Given the description of an element on the screen output the (x, y) to click on. 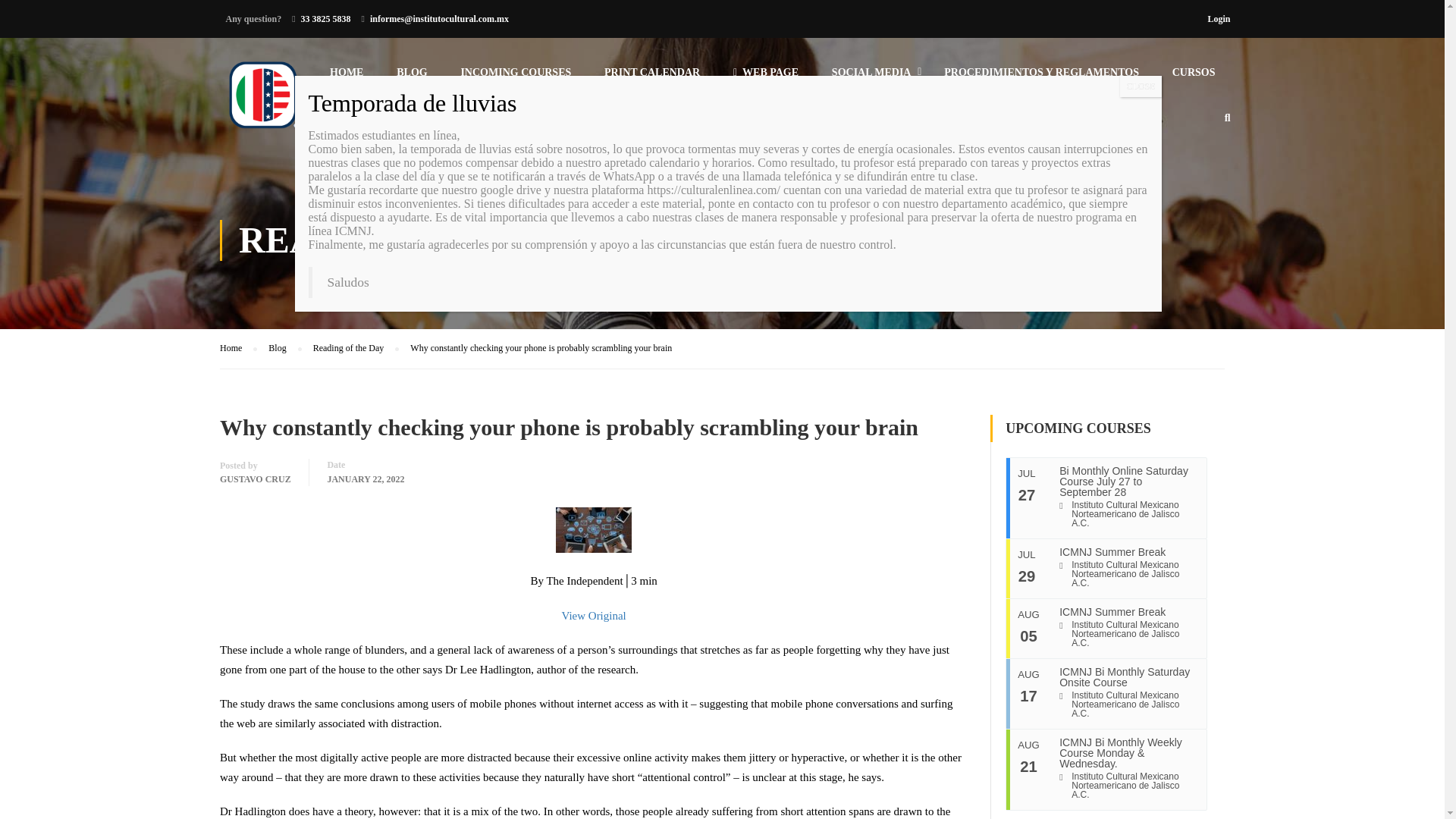
PROCEDIMIENTOS Y REGLAMENTOS (1041, 79)
GUSTAVO CRUZ (255, 478)
Reading of the Day (355, 348)
Home (238, 348)
Blog (284, 348)
SOCIAL MEDIA (871, 79)
33 3825 5838 (325, 18)
View Original (593, 615)
Reading of the Day (355, 348)
Home (238, 348)
INCOMING COURSES (515, 79)
WEB PAGE (765, 79)
Login (1218, 18)
Blog (284, 348)
PRINT CALENDAR (651, 79)
